Given the description of an element on the screen output the (x, y) to click on. 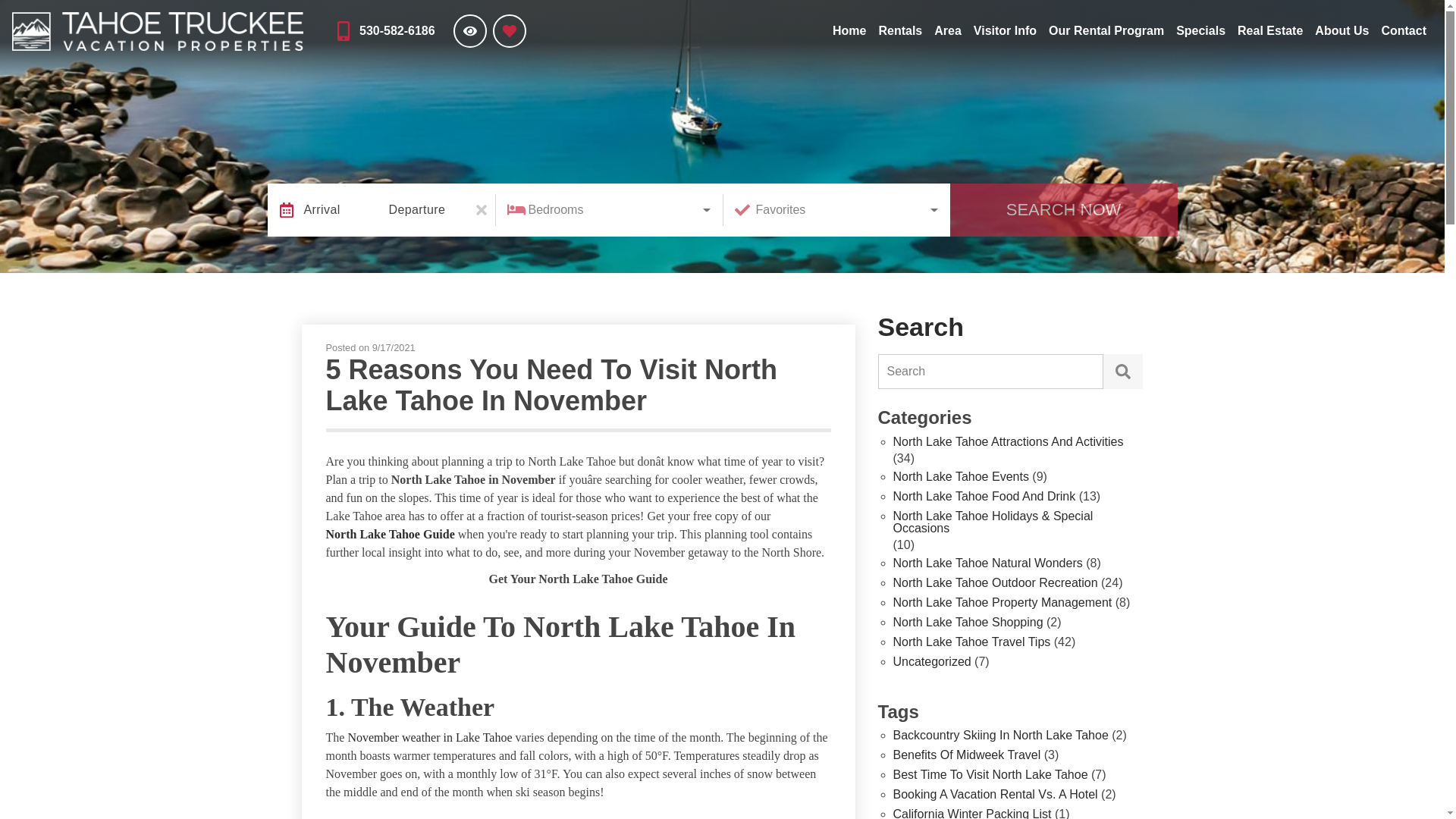
Visitor Info (1005, 30)
Specials (1200, 30)
Favorites (835, 209)
Area (948, 30)
Real Estate (1269, 30)
Our Rental Program (1106, 30)
530-582-6186 (383, 30)
Bedrooms (608, 209)
Rentals (900, 30)
Home (849, 30)
